Given the description of an element on the screen output the (x, y) to click on. 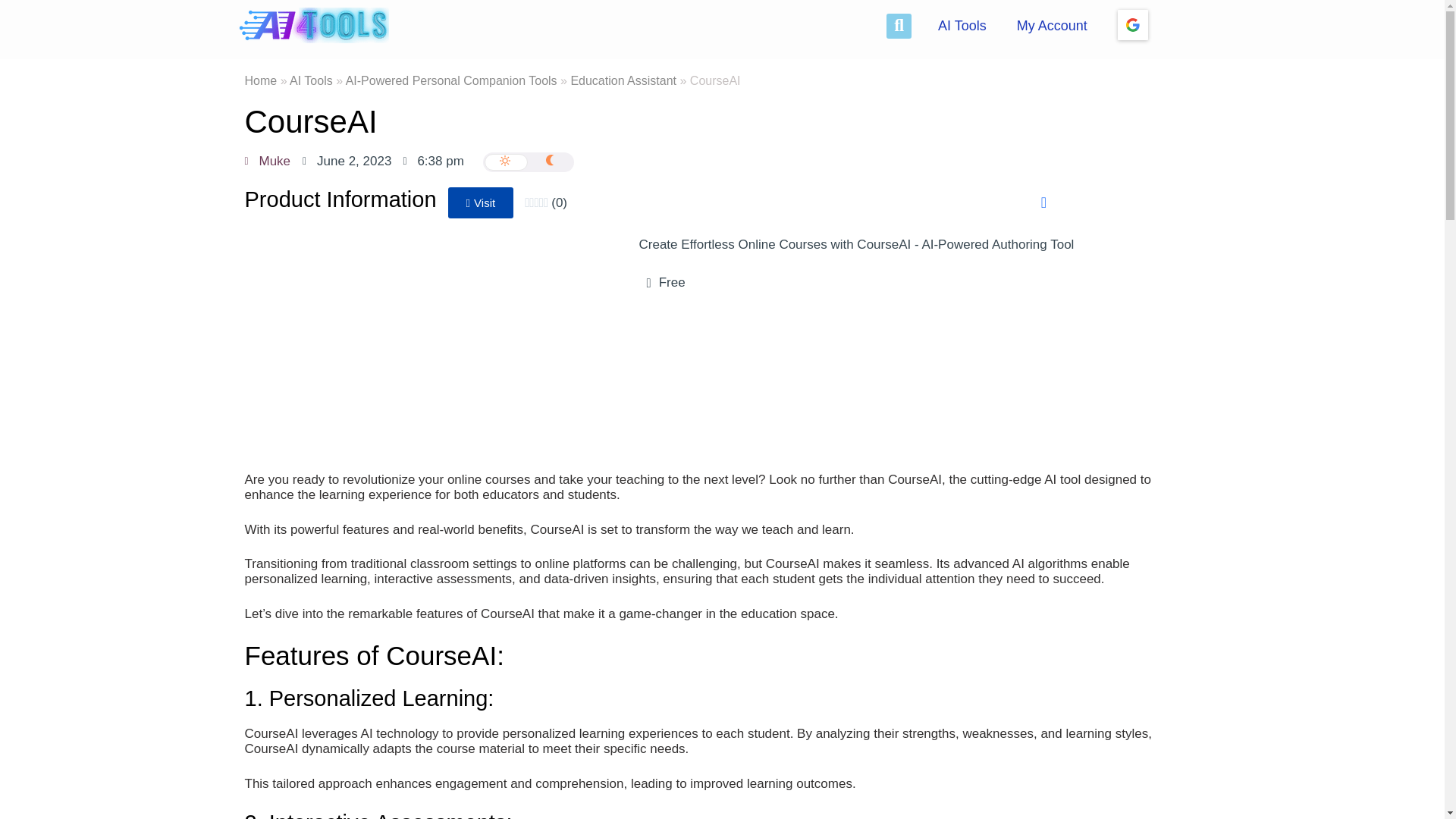
My Account (1051, 25)
AI Tools (311, 80)
Home (260, 80)
AI-Powered Personal Companion Tools (451, 80)
AI Tools (962, 25)
Visit (480, 202)
Muke (266, 160)
Education Assistant (623, 80)
